Given the description of an element on the screen output the (x, y) to click on. 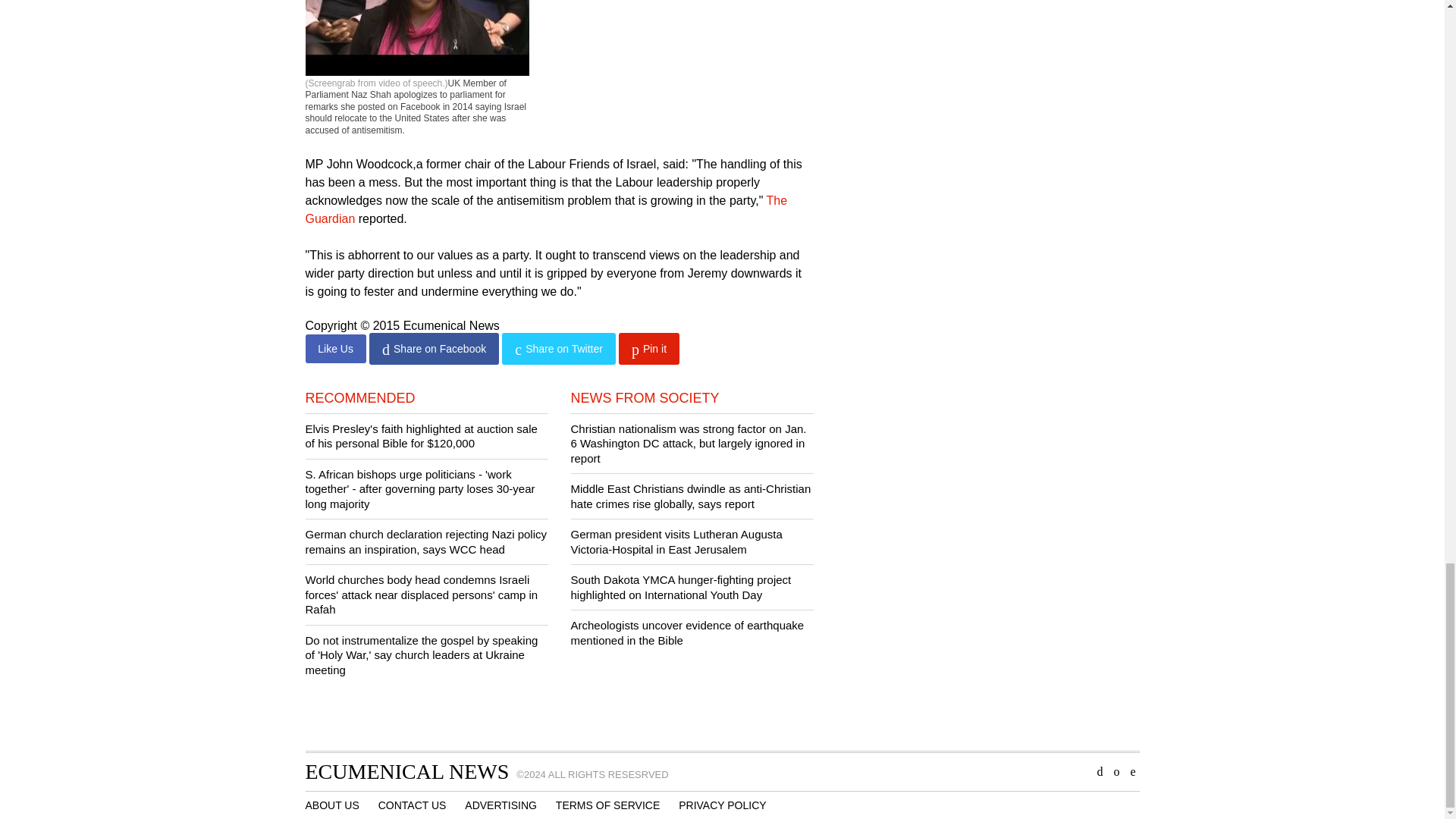
Pin it (648, 348)
Share on Facebook (434, 348)
The Guardian (545, 208)
Share on Twitter (558, 348)
Guardian on UK MP suspended for antisemitic remark (545, 208)
